Given the description of an element on the screen output the (x, y) to click on. 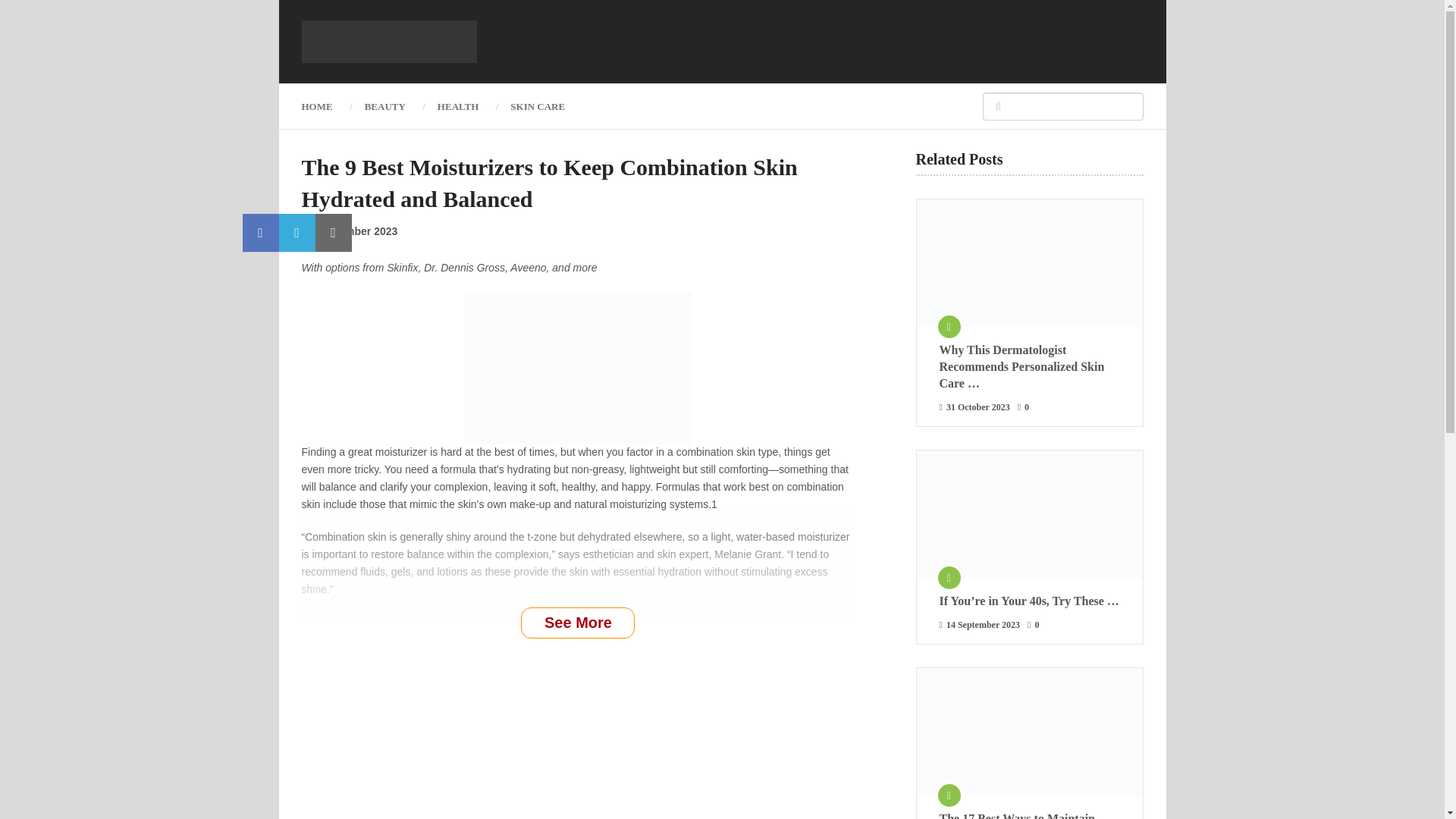
The 17 Best Ways to Maintain Weight Loss (1029, 814)
The 17 Best Ways to Maintain Weight Loss (1028, 731)
HOME (325, 105)
BEAUTY (385, 105)
HEALTH (458, 105)
SKIN CARE (537, 105)
